Given the description of an element on the screen output the (x, y) to click on. 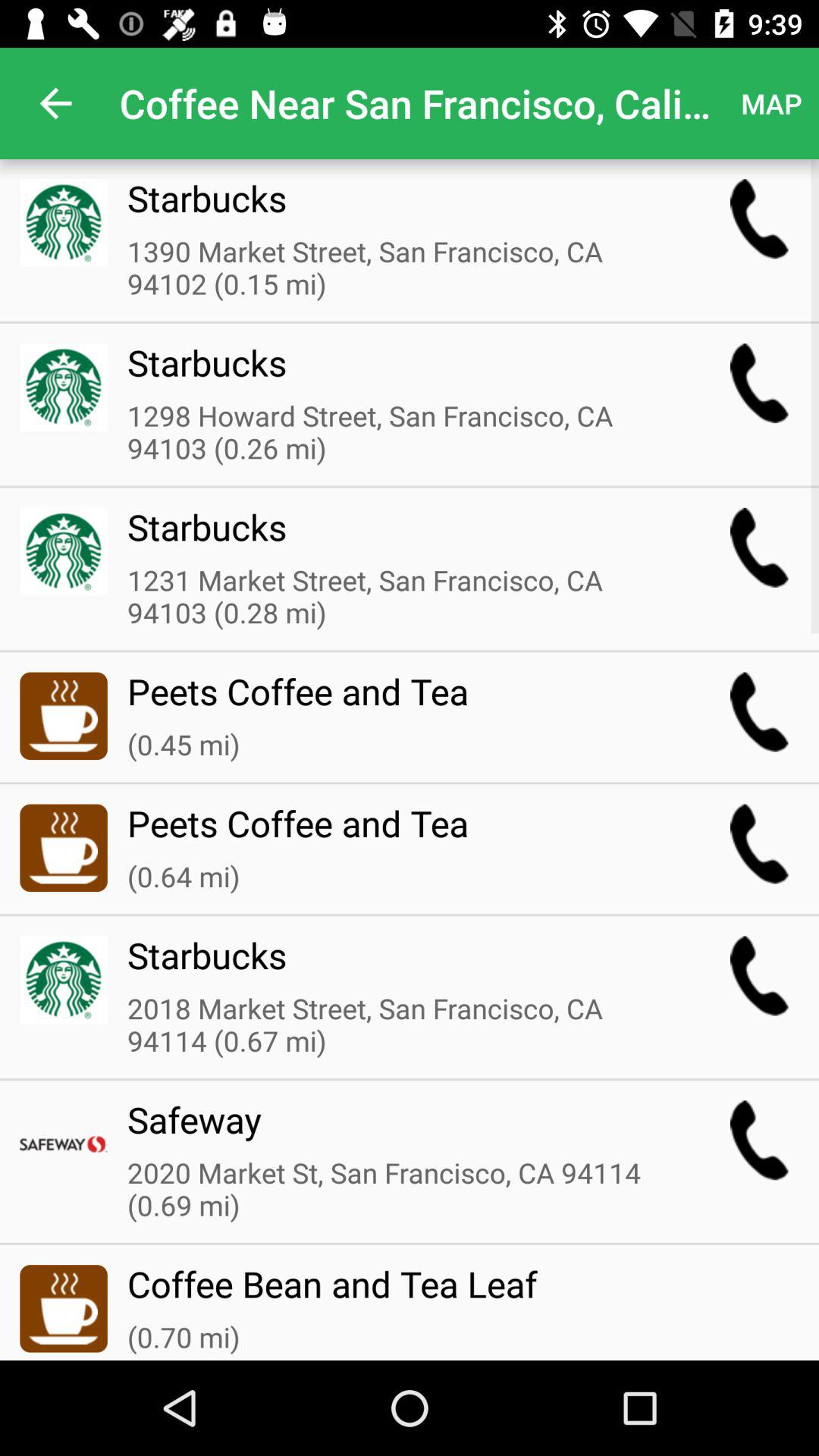
scroll until map item (771, 103)
